Given the description of an element on the screen output the (x, y) to click on. 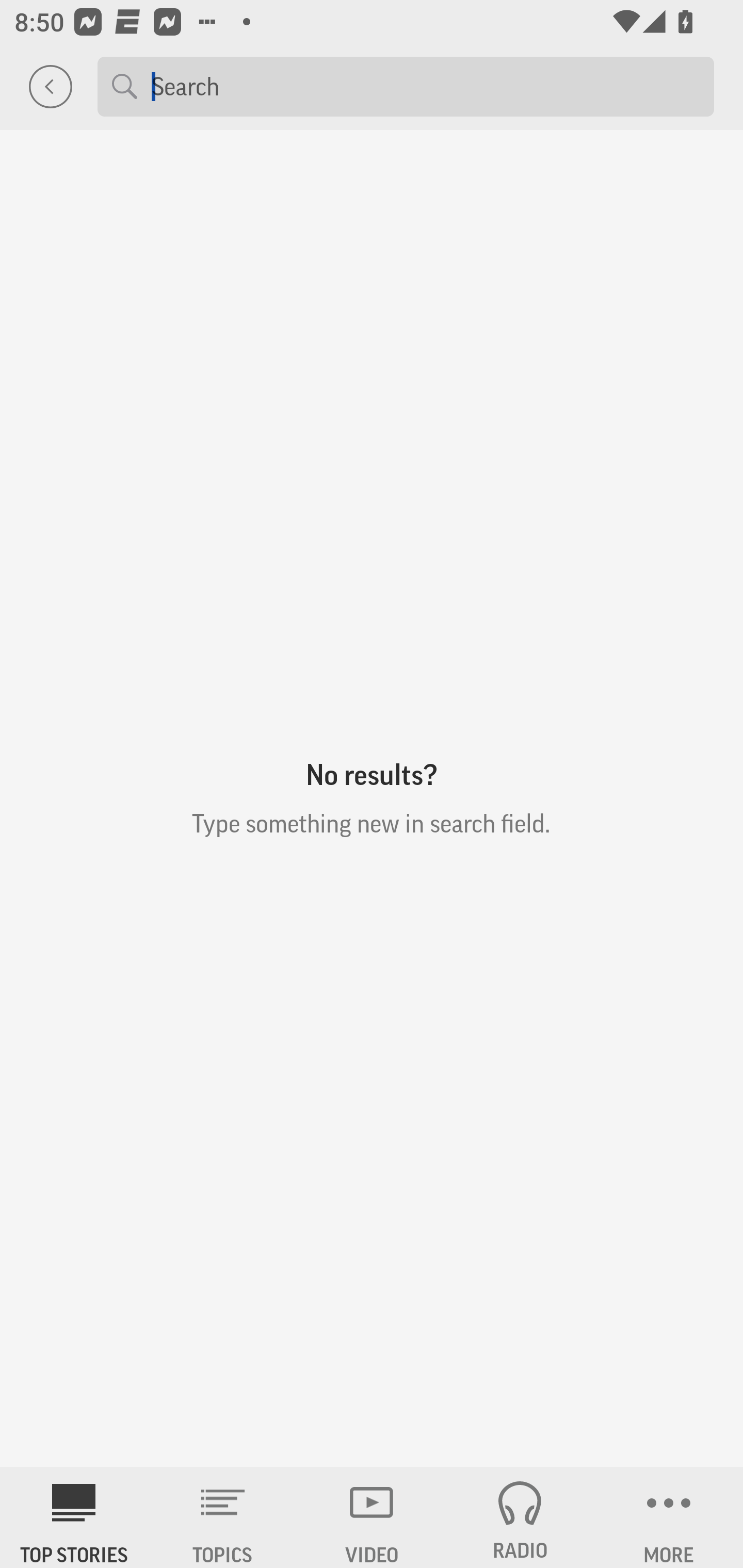
Search (425, 86)
AP News TOP STORIES (74, 1517)
TOPICS (222, 1517)
VIDEO (371, 1517)
RADIO (519, 1517)
MORE (668, 1517)
